Given the description of an element on the screen output the (x, y) to click on. 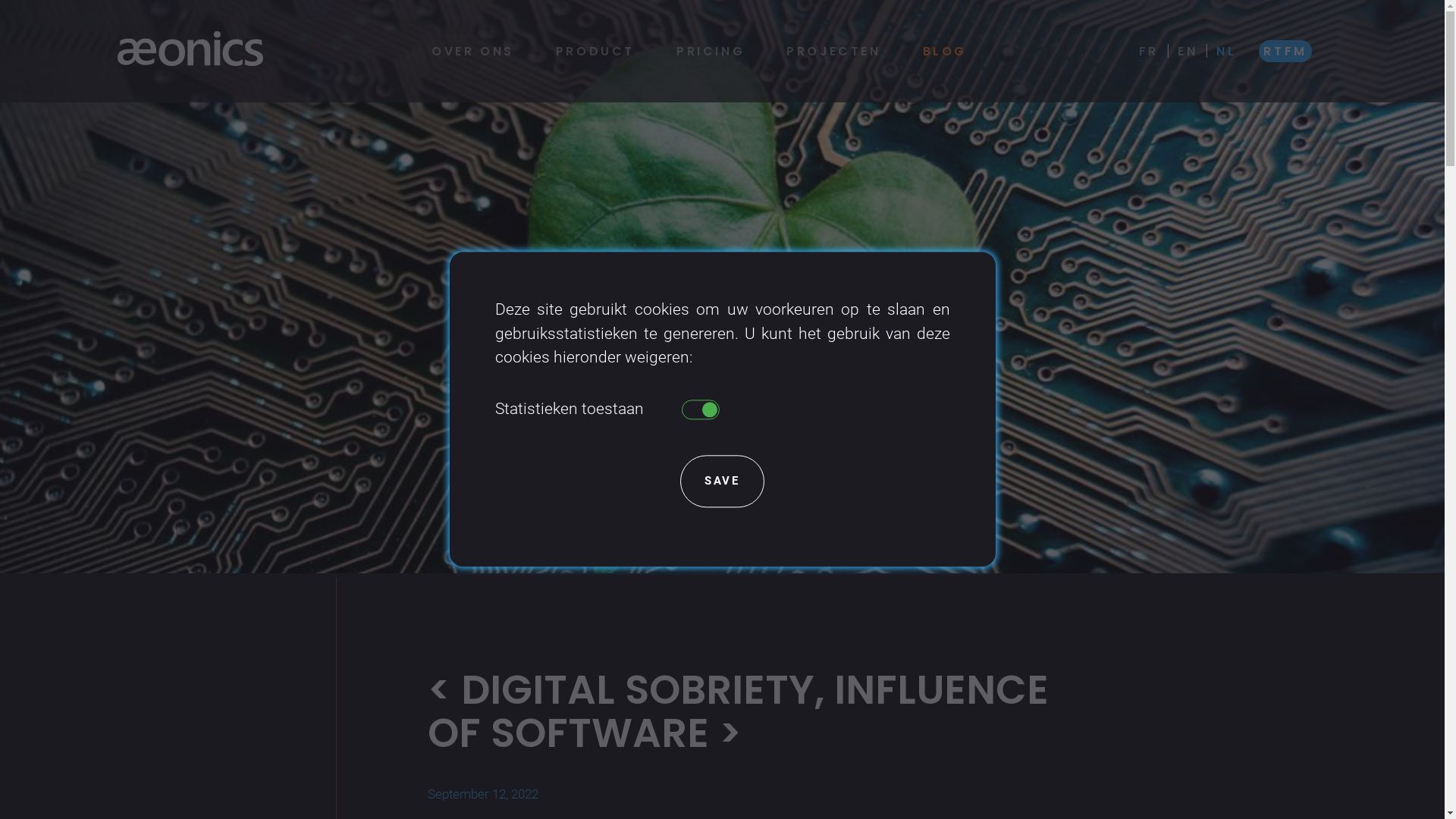
PROJECTEN Element type: text (833, 50)
PRICING Element type: text (710, 50)
RTFM Element type: text (1284, 51)
BLOG Element type: text (944, 50)
EN Element type: text (1187, 50)
NL Element type: text (1225, 50)
OVER ONS PRODUCT PRICING PROJECTEN BLOG FR | EN | NL RTFM Element type: text (722, 51)
SAVE Element type: text (722, 481)
  Element type: text (699, 410)
FR Element type: text (1148, 50)
PRODUCT Element type: text (594, 50)
OVER ONS Element type: text (472, 50)
